Given the description of an element on the screen output the (x, y) to click on. 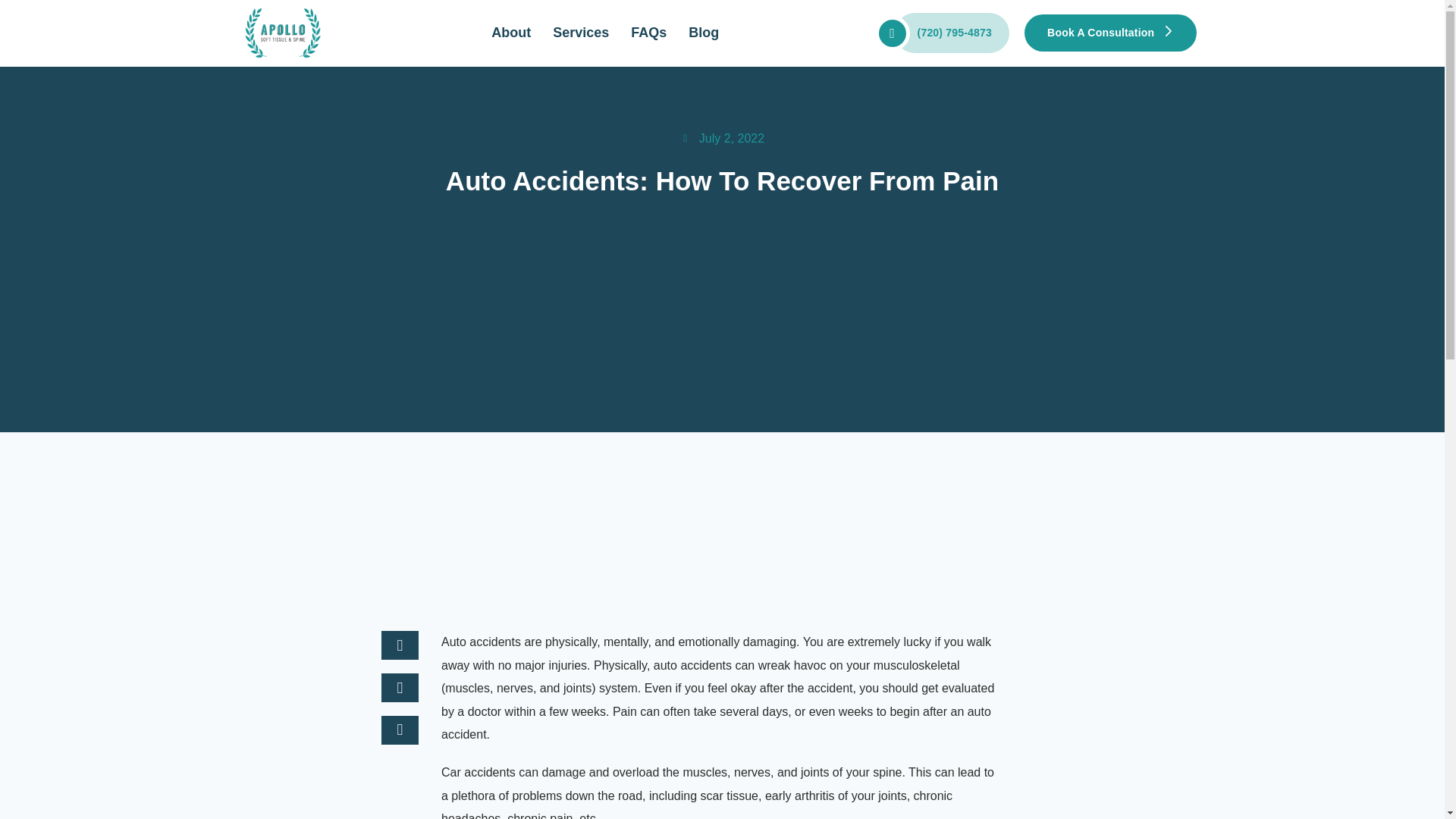
FAQs (648, 33)
About (511, 33)
Book A Consultation (1110, 32)
Services (580, 33)
Blog (703, 33)
